Given the description of an element on the screen output the (x, y) to click on. 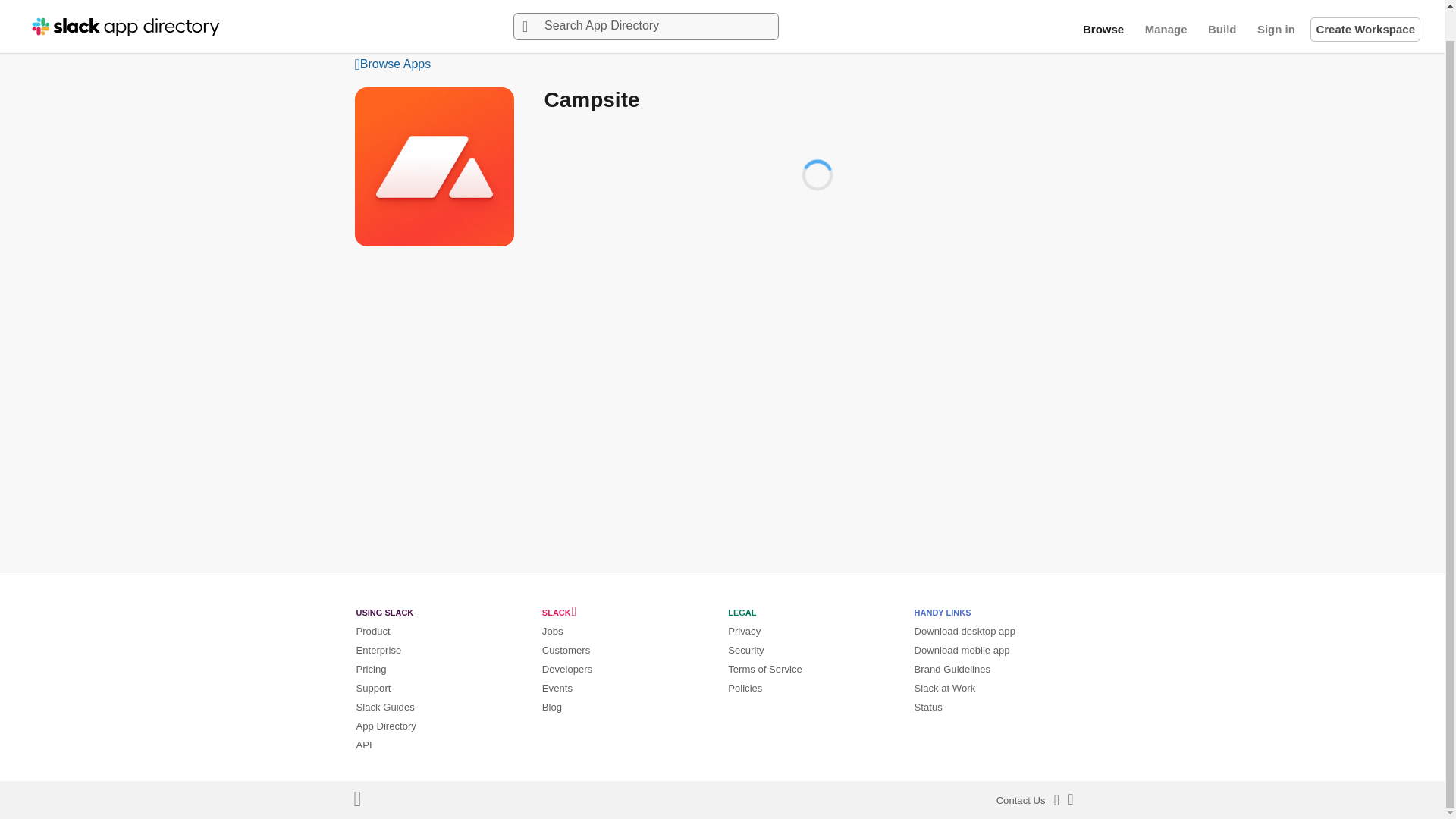
Create Workspace (1365, 4)
API (364, 745)
Build (1221, 4)
Sign in (1276, 4)
Support (373, 687)
Browse Apps (722, 65)
Jobs (552, 631)
Pricing (371, 668)
Product (373, 631)
Customers (565, 650)
Manage (1166, 4)
App Directory (386, 726)
Slack Guides (385, 706)
Enterprise (378, 650)
Events (556, 687)
